Given the description of an element on the screen output the (x, y) to click on. 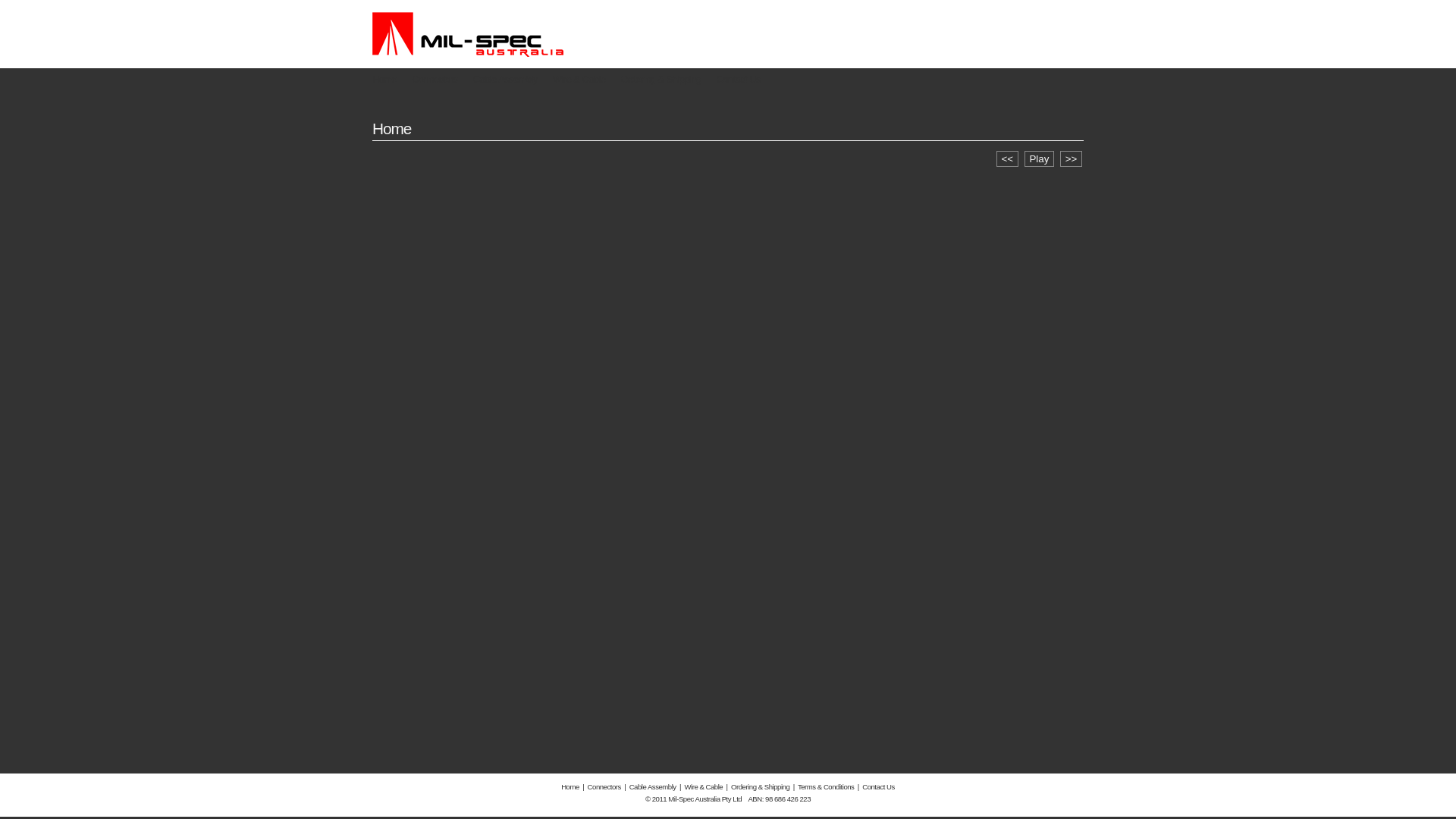
Home Element type: text (570, 786)
Cable Assembly Element type: text (505, 78)
Ordering & Shipping Element type: text (661, 78)
Cable Assembly Element type: text (652, 786)
Connectors Element type: text (434, 78)
next Element type: hover (1071, 158)
Wire & Cable Element type: text (703, 786)
 <<  Element type: text (1007, 158)
Connectors Element type: text (604, 786)
Ordering & Shipping Element type: text (760, 786)
Contact Us Element type: text (738, 78)
Contact Us Element type: text (878, 786)
Terms & Conditions Element type: text (825, 786)
 >>  Element type: text (1071, 158)
Wire & Cable Element type: text (578, 78)
 Play  Element type: text (1039, 158)
previous Element type: hover (1007, 158)
Home Element type: text (384, 78)
